Given the description of an element on the screen output the (x, y) to click on. 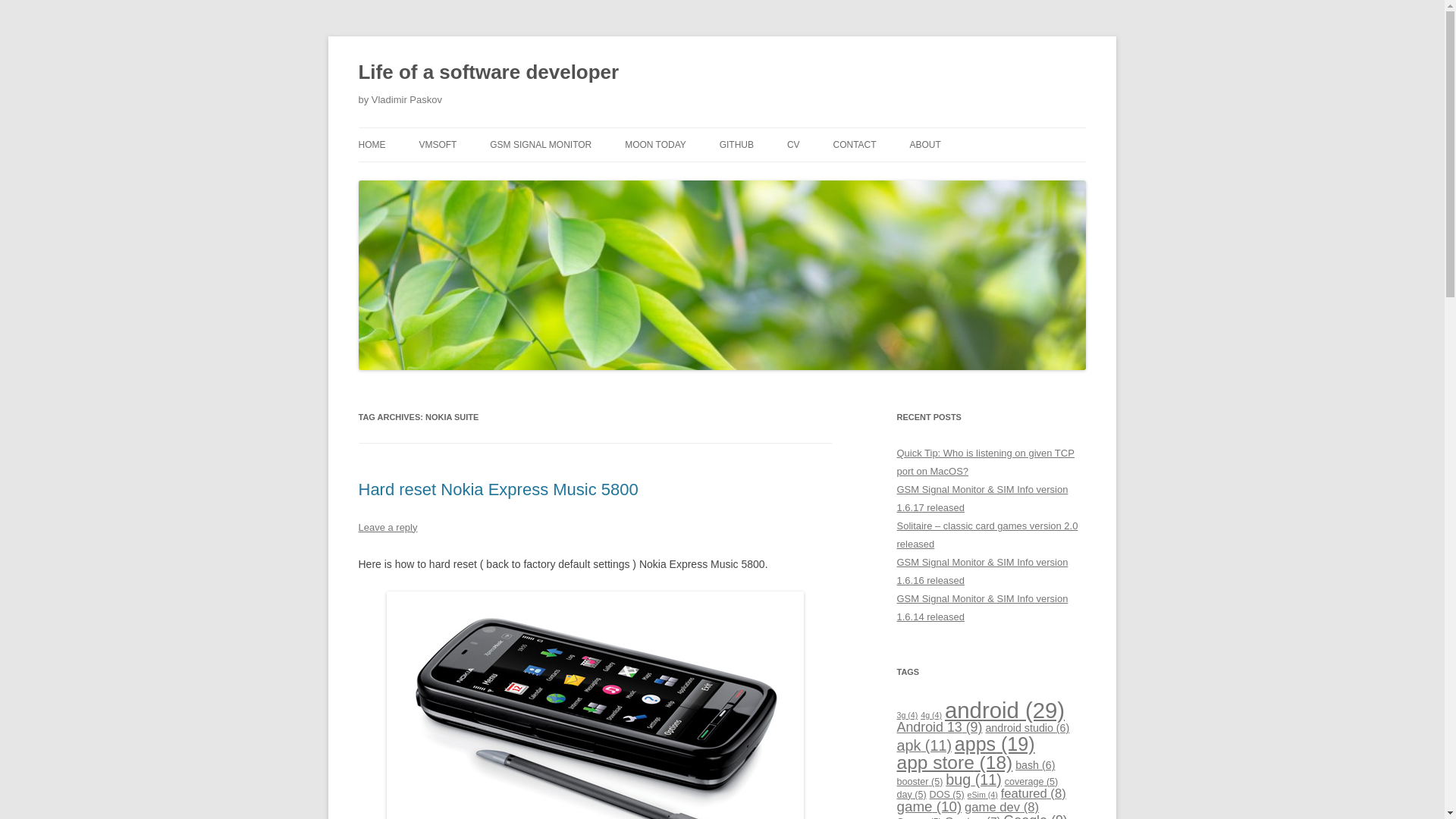
GSM SIGNAL MONITOR (540, 144)
Quick Tip: Who is listening on given TCP port on MacOS? (985, 461)
CONTACT (854, 144)
GITHUB (736, 144)
nokia-5800-xpress-music-1 (595, 705)
Hard reset Nokia Express Music 5800 (497, 488)
Leave a reply (387, 527)
ABOUT (924, 144)
Life of a software developer (488, 72)
MOON TODAY (654, 144)
VMSOFT (438, 144)
